Given the description of an element on the screen output the (x, y) to click on. 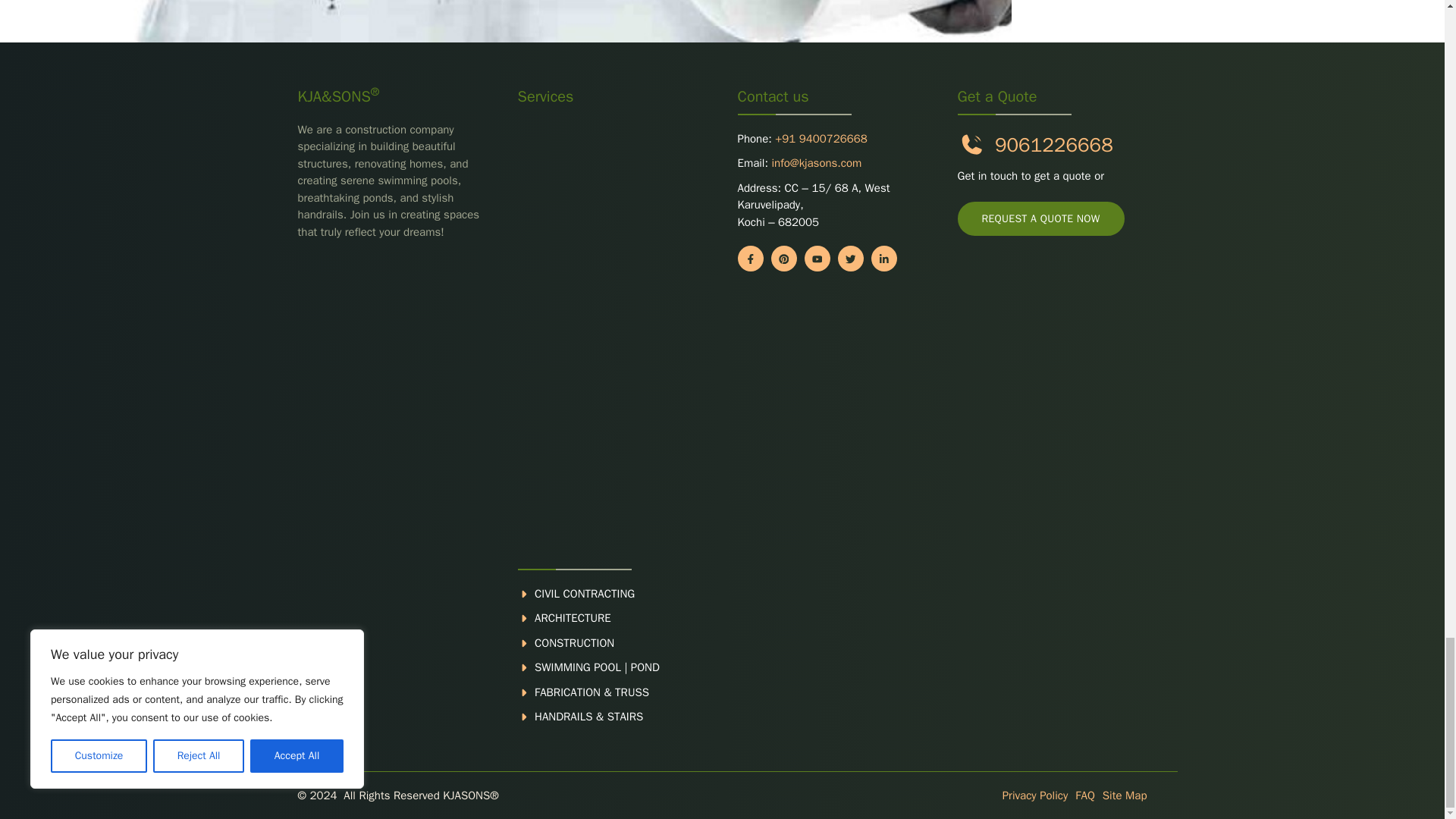
Advertisement (611, 340)
